Given the description of an element on the screen output the (x, y) to click on. 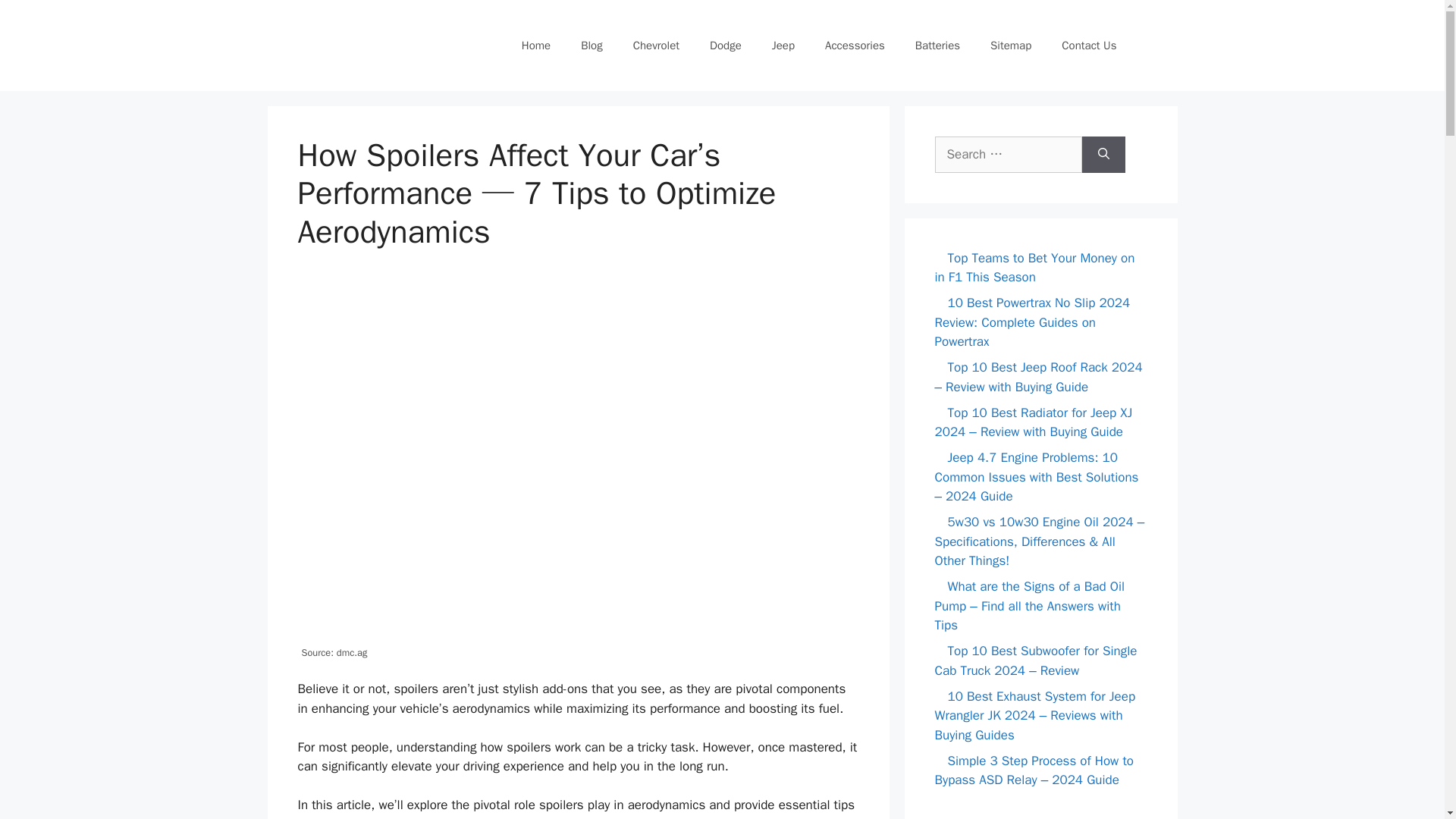
Accessories (854, 44)
Blog (591, 44)
Contact Us (1088, 44)
Search for: (1007, 154)
Sitemap (1010, 44)
Home (536, 44)
Dodge (725, 44)
Batteries (937, 44)
Chevrolet (655, 44)
